Given the description of an element on the screen output the (x, y) to click on. 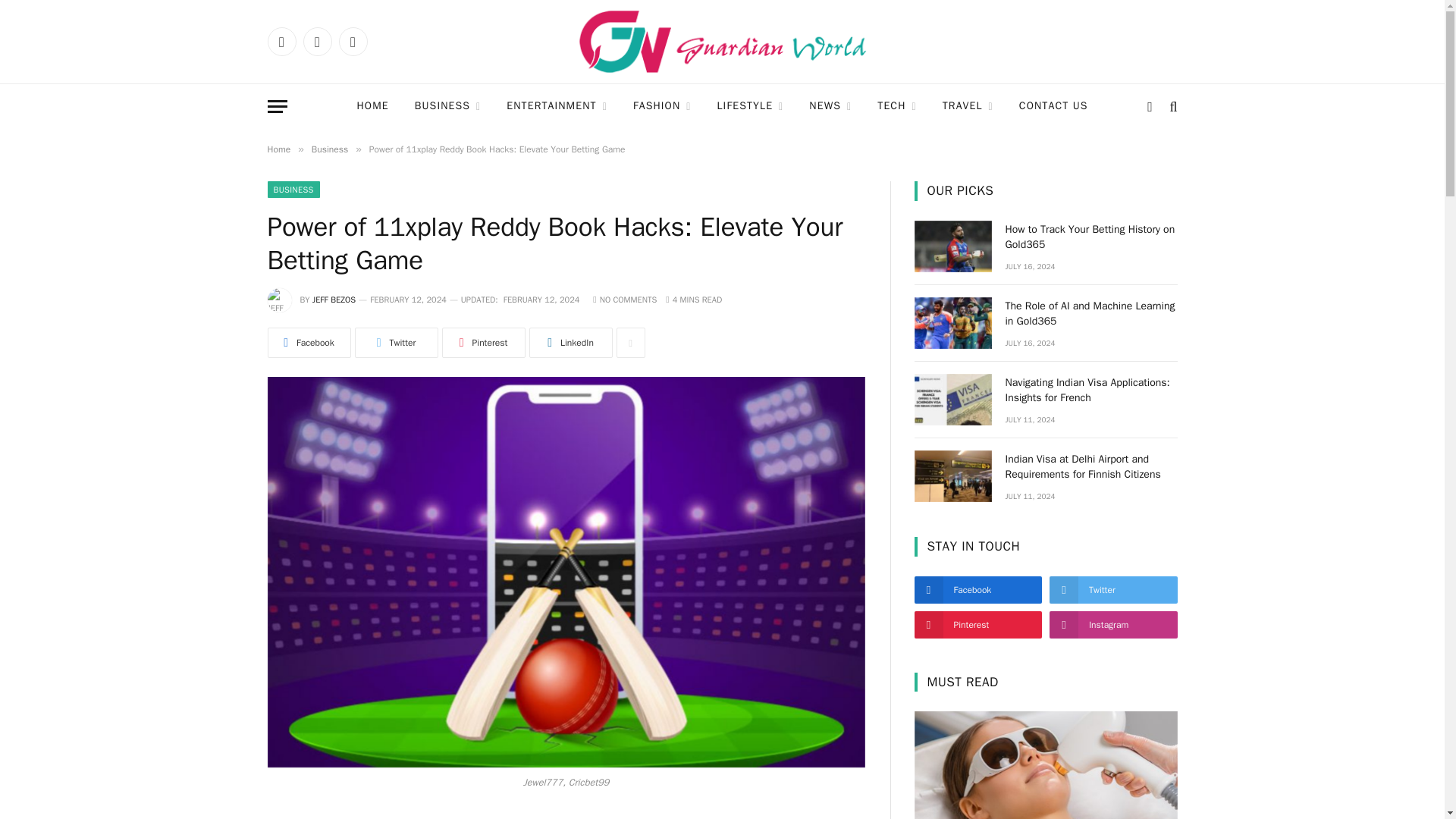
HOME (372, 106)
Twitter (316, 41)
Guardian World (721, 41)
ENTERTAINMENT (556, 106)
Instagram (351, 41)
Facebook (280, 41)
FASHION (662, 106)
BUSINESS (448, 106)
